Given the description of an element on the screen output the (x, y) to click on. 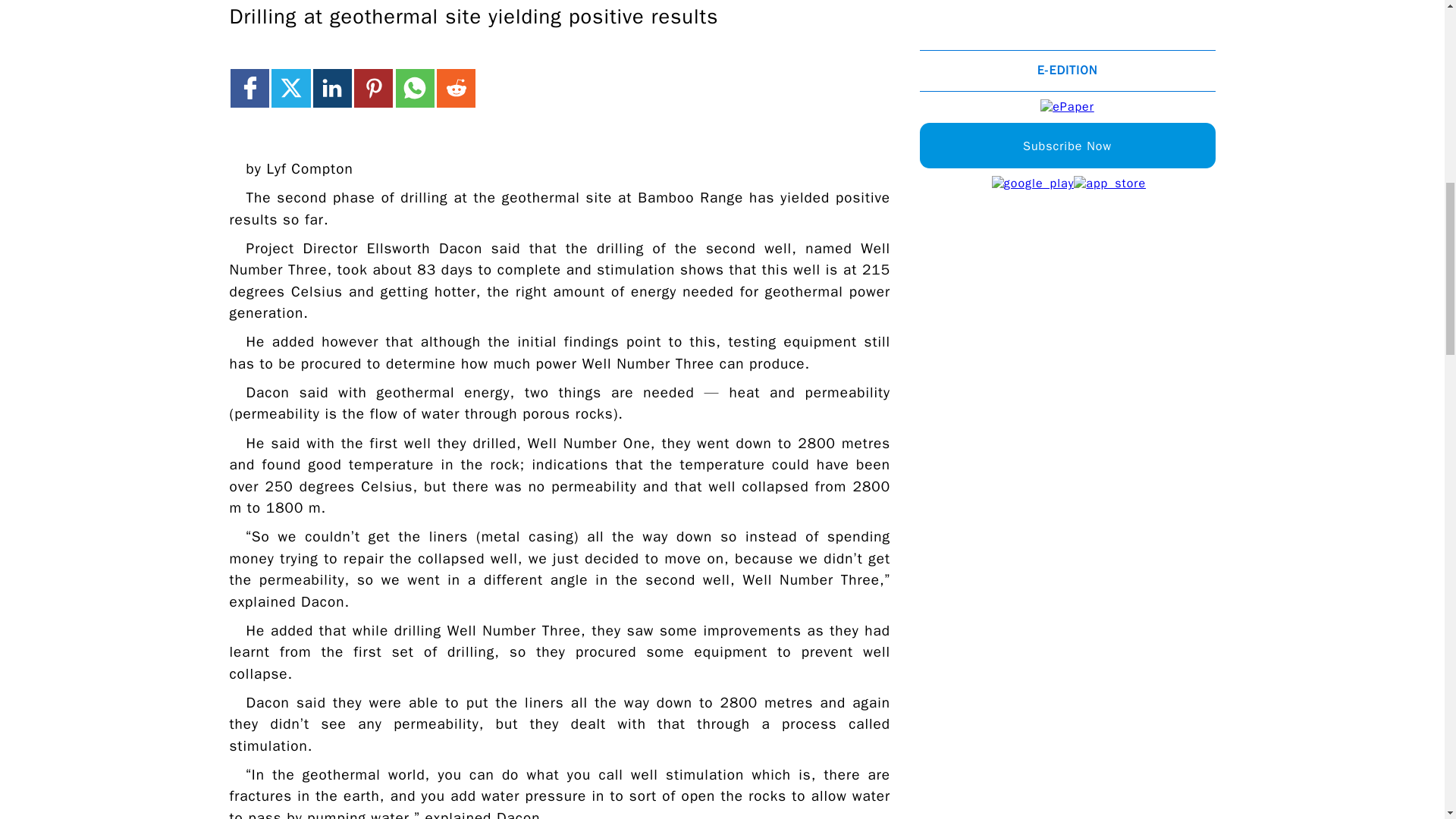
ePaper (1067, 107)
